Given the description of an element on the screen output the (x, y) to click on. 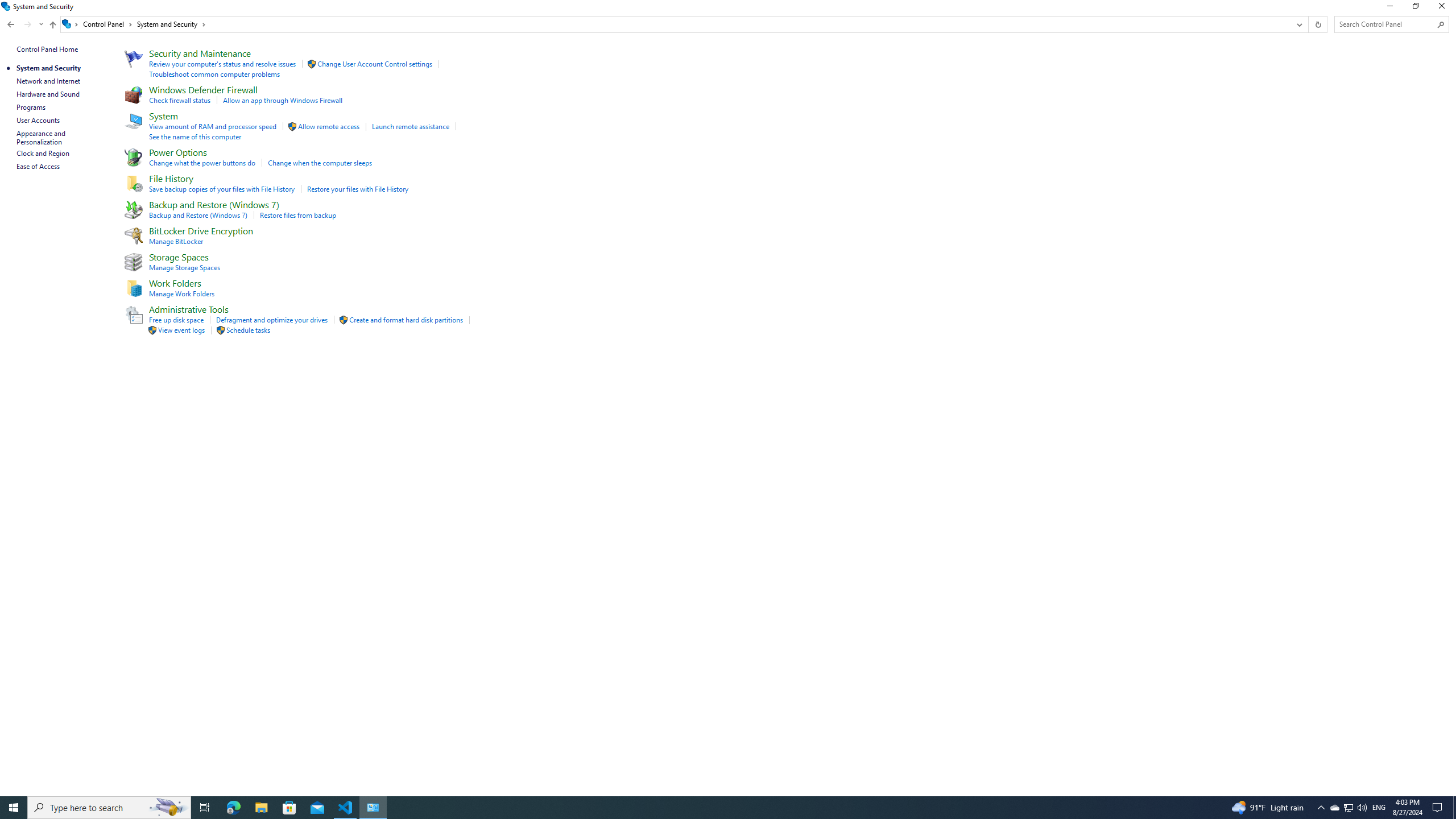
Work Folders (175, 282)
Allow remote access (329, 126)
Clock and Region (42, 153)
File History (171, 177)
Minimize (1388, 8)
Notification Chevron (1320, 807)
Refresh "System and Security" (F5) (1316, 23)
Change User Account Control settings (374, 63)
Microsoft Edge (233, 807)
Windows Defender Firewall (203, 89)
View amount of RAM and processor speed (213, 126)
Allow an app through Windows Firewall (282, 99)
Power Options (178, 151)
Start (13, 807)
Q2790: 100% (1361, 807)
